Given the description of an element on the screen output the (x, y) to click on. 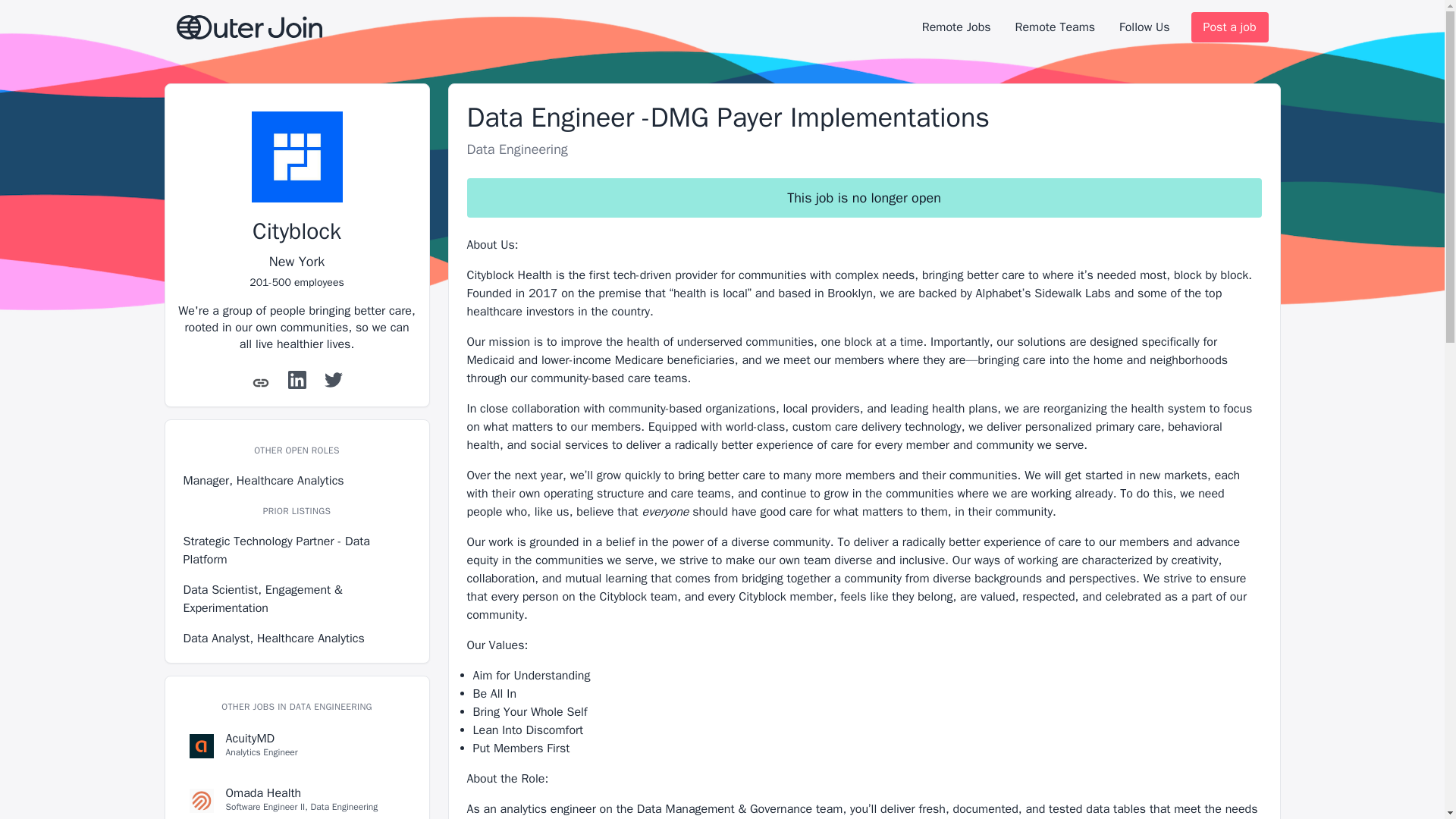
Data Analyst, Healthcare Analytics (296, 637)
Strategic Technology Partner - Data Platform (296, 550)
Remote Teams (296, 797)
Post a job (1054, 27)
Cityblock (296, 745)
Manager, Healthcare Analytics (1229, 27)
OTHER OPEN ROLES (295, 231)
Remote Jobs (296, 480)
Follow Us (296, 450)
